Given the description of an element on the screen output the (x, y) to click on. 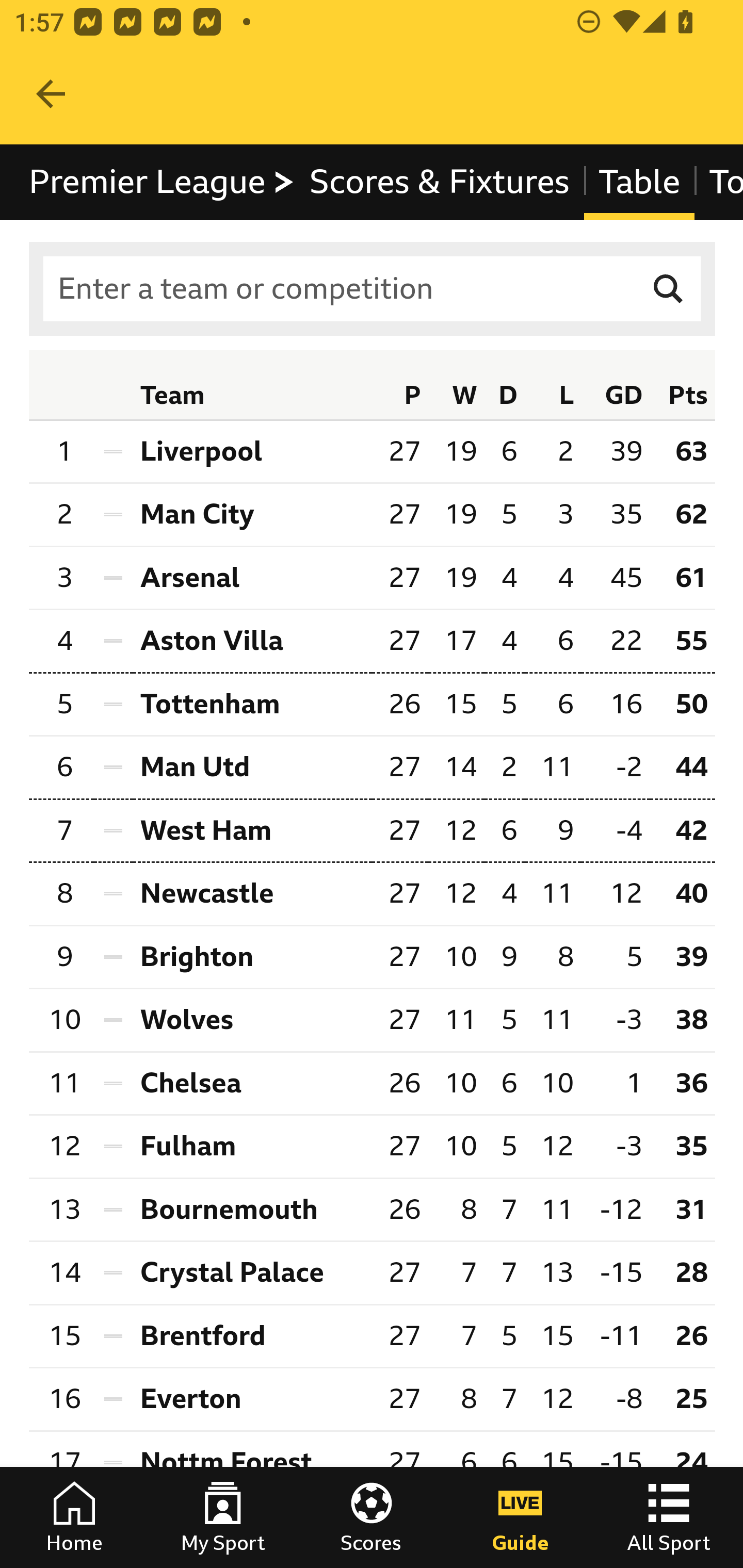
Navigate up (50, 93)
Premier League  (162, 181)
Scores & Fixtures (439, 181)
Table (638, 181)
Search (669, 289)
Liverpool (252, 450)
Man City Manchester City (252, 514)
Arsenal (252, 577)
Aston Villa (252, 640)
Tottenham Tottenham Hotspur (252, 704)
Man Utd Manchester United (252, 768)
West Ham West Ham United (252, 830)
Newcastle Newcastle United (252, 894)
Brighton Brighton & Hove Albion (252, 957)
Wolves Wolverhampton Wanderers (252, 1020)
Chelsea (252, 1082)
Fulham (252, 1145)
Bournemouth AFC Bournemouth (252, 1209)
Crystal Palace (252, 1271)
Brentford (252, 1335)
Everton (252, 1399)
Home (74, 1517)
My Sport (222, 1517)
Scores (371, 1517)
All Sport (668, 1517)
